Given the description of an element on the screen output the (x, y) to click on. 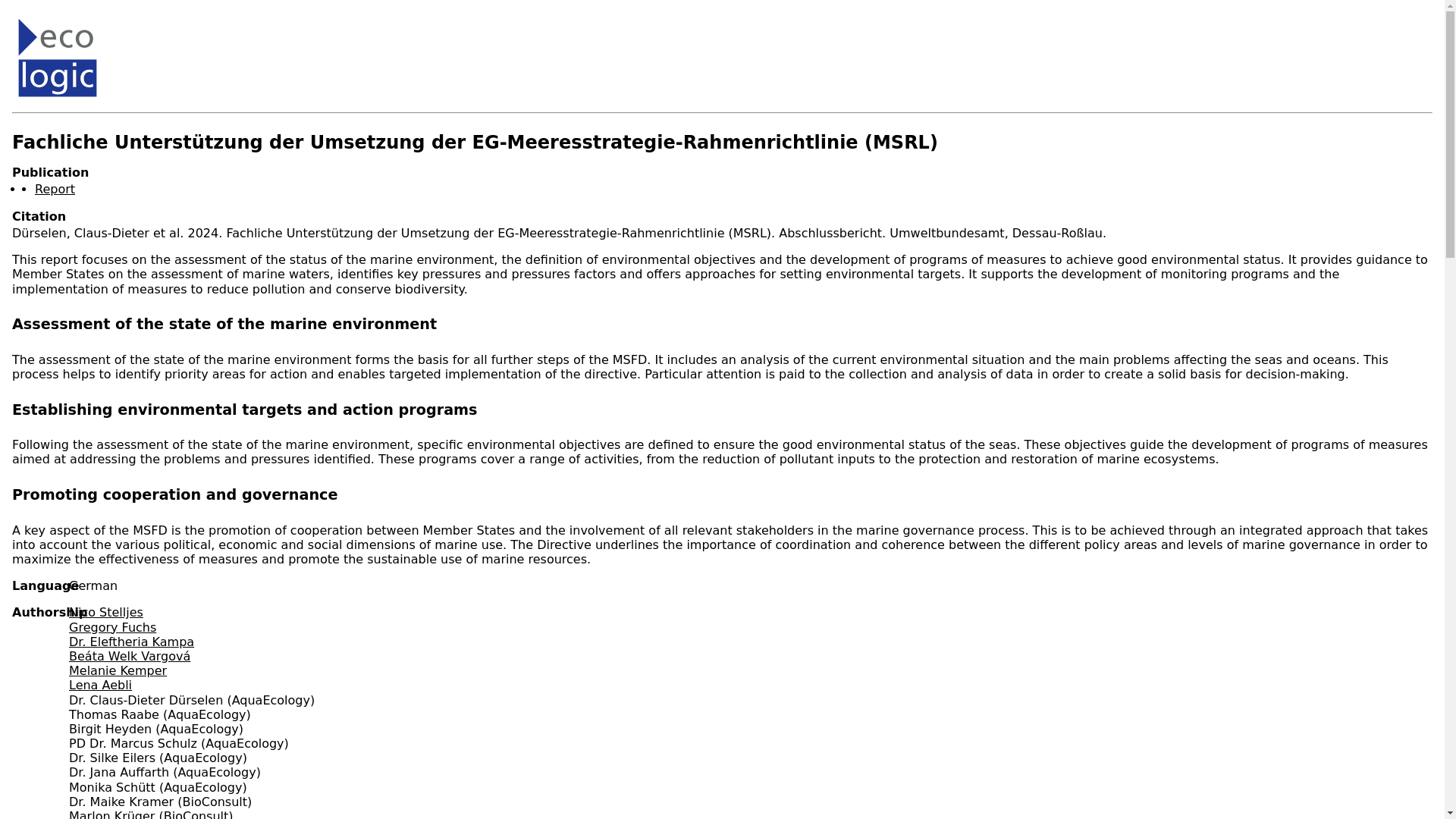
Gregory Fuchs (111, 626)
Nico Stelljes (105, 612)
Melanie Kemper (117, 670)
Dr. Eleftheria Kampa (130, 641)
Report (54, 188)
Lena Aebli (100, 685)
